Given the description of an element on the screen output the (x, y) to click on. 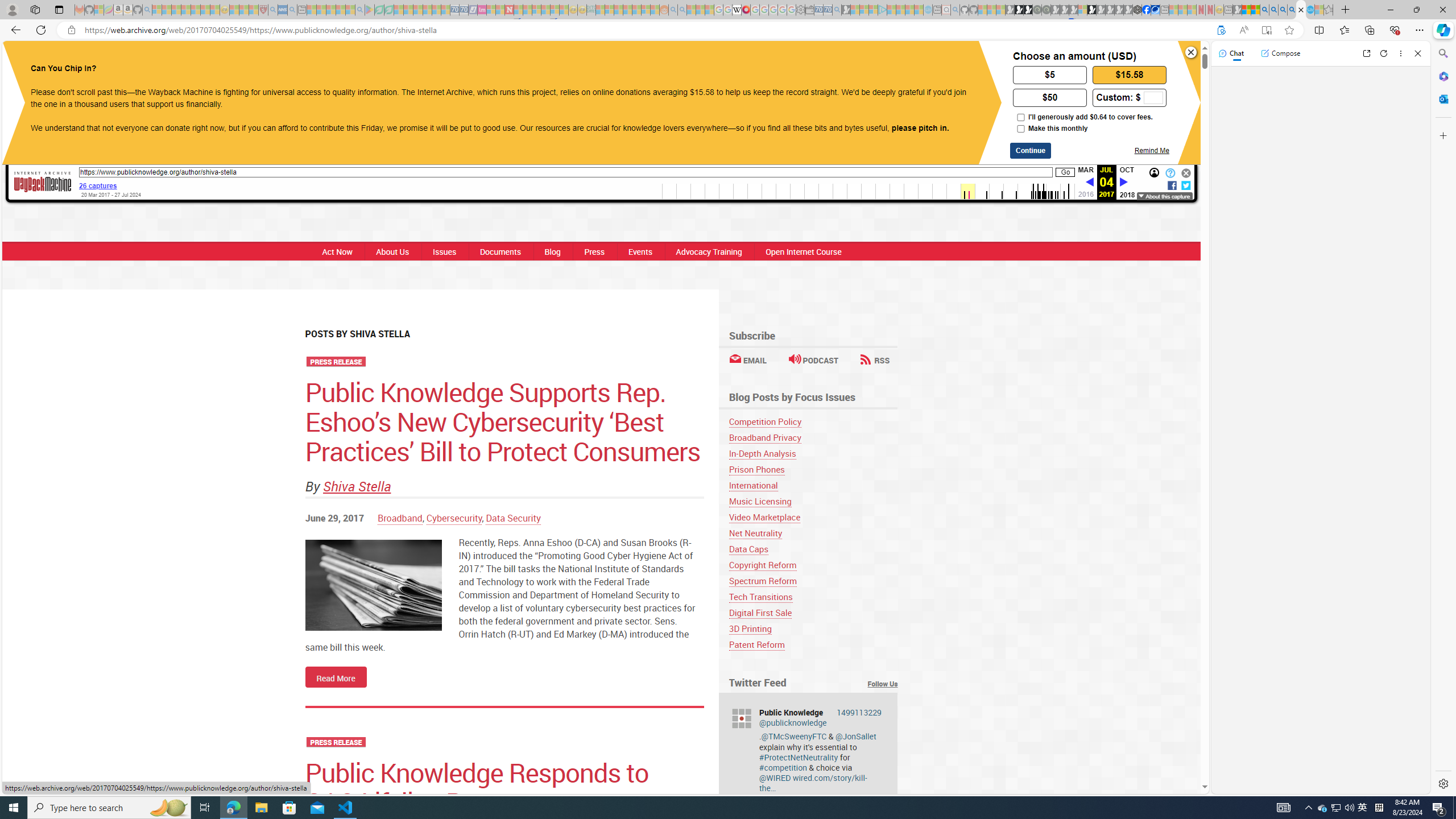
Remind Me (1151, 150)
@TMcSweenyFTC (794, 736)
MSN - Sleeping (1236, 9)
RSS (874, 360)
